Given the description of an element on the screen output the (x, y) to click on. 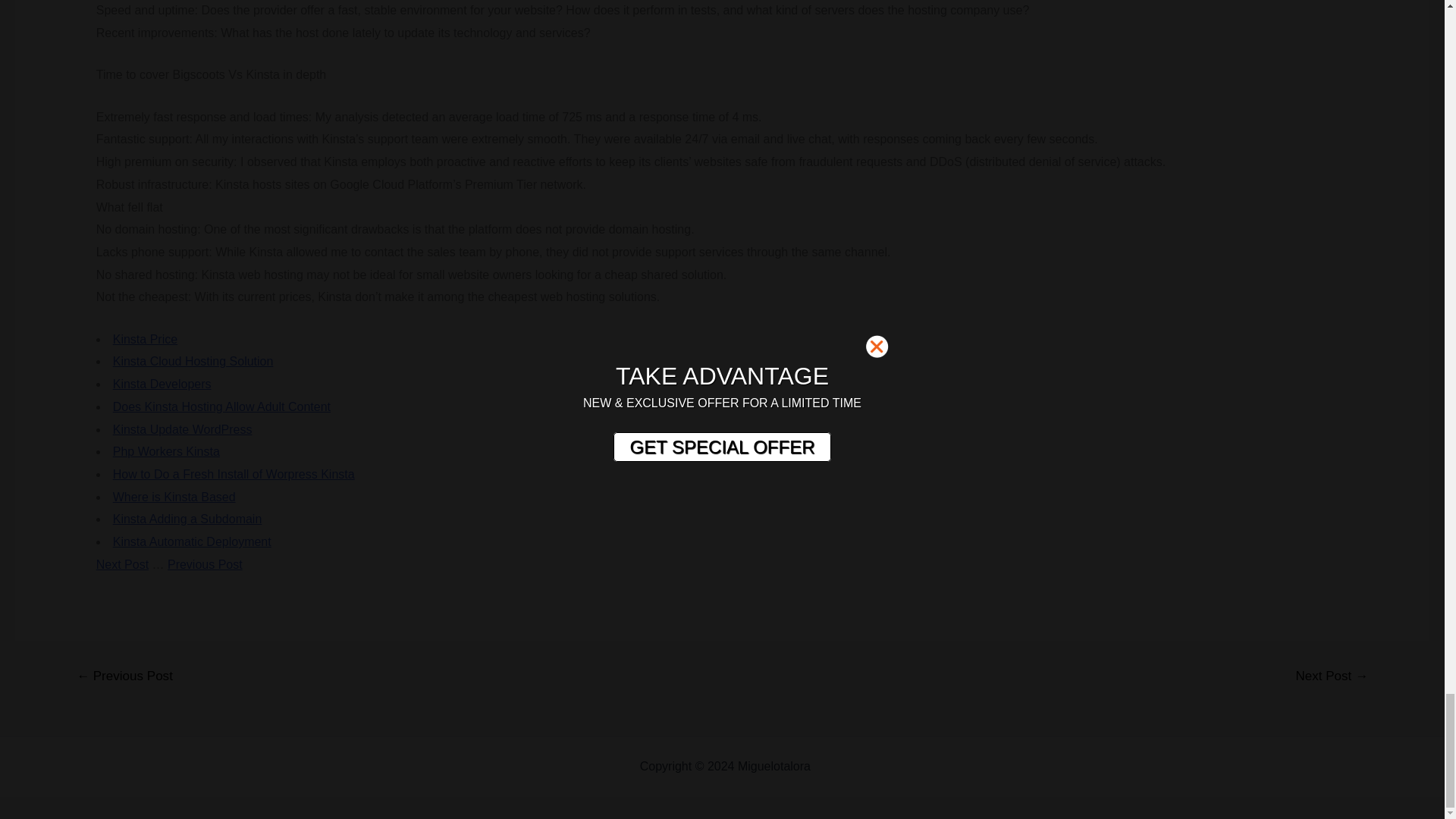
Does Kinsta Hosting Allow Adult Content (221, 406)
Php Workers Kinsta (166, 451)
Kinsta Price (145, 338)
Kinsta Cloud Hosting Solution (193, 360)
Next Post (122, 563)
Does Kinsta Hosting Allow Adult Content (221, 406)
Kinsta Adding a Subdomain (187, 518)
Previous Post (205, 563)
Kinsta Developers (162, 383)
Kinsta Update WordPress (182, 428)
Kinsta Automatic Deployment (191, 541)
Kinsta Cloud Hosting Solution (193, 360)
Php Workers Kinsta (166, 451)
Kinsta Update WordPress (182, 428)
Kinsta Price (145, 338)
